Given the description of an element on the screen output the (x, y) to click on. 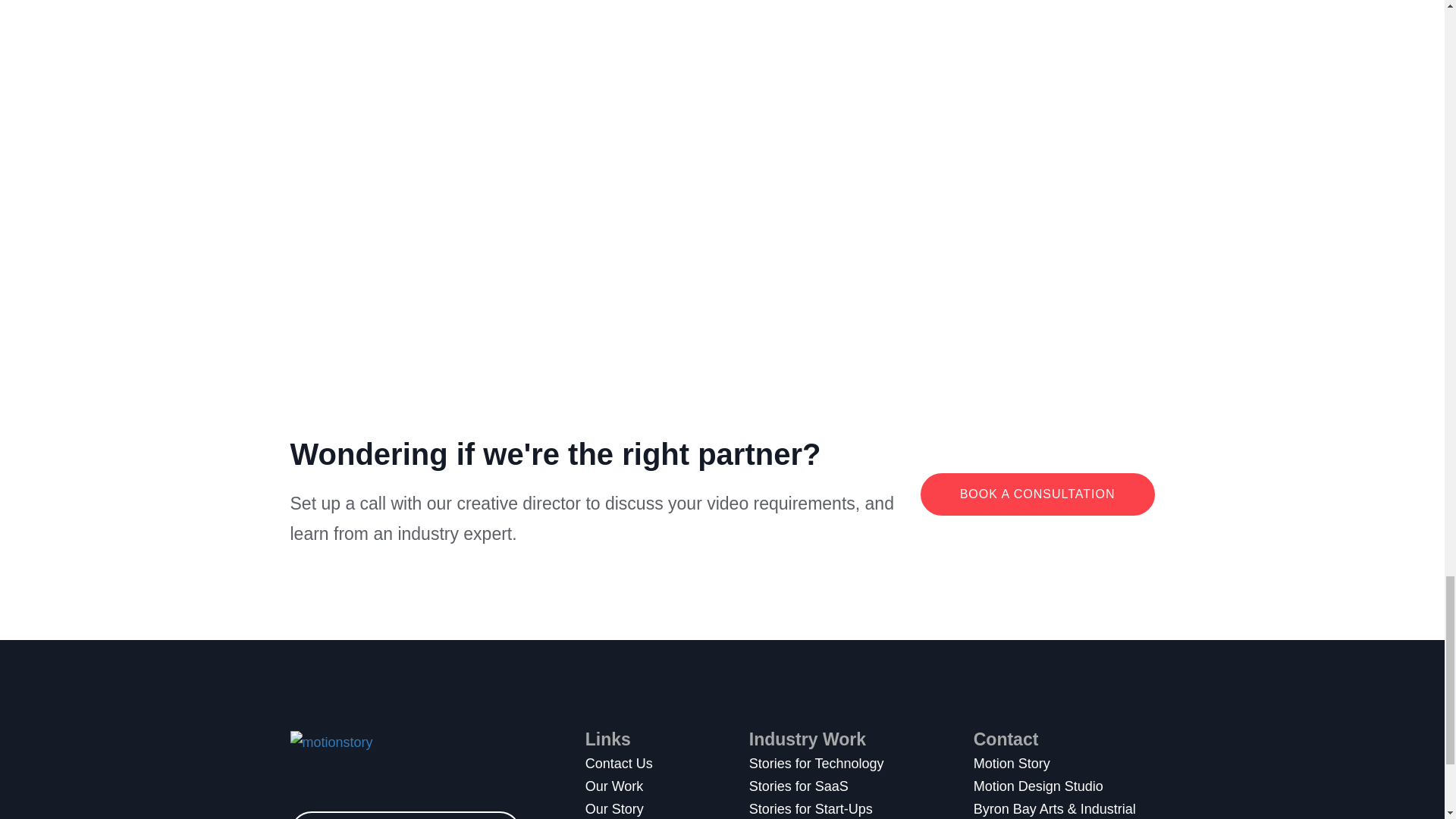
Contact Us (667, 763)
Our Story (667, 808)
BOOK A CONSULTATION (1037, 494)
LET'S WORK TOGETHER (405, 815)
Our Work (667, 785)
